Given the description of an element on the screen output the (x, y) to click on. 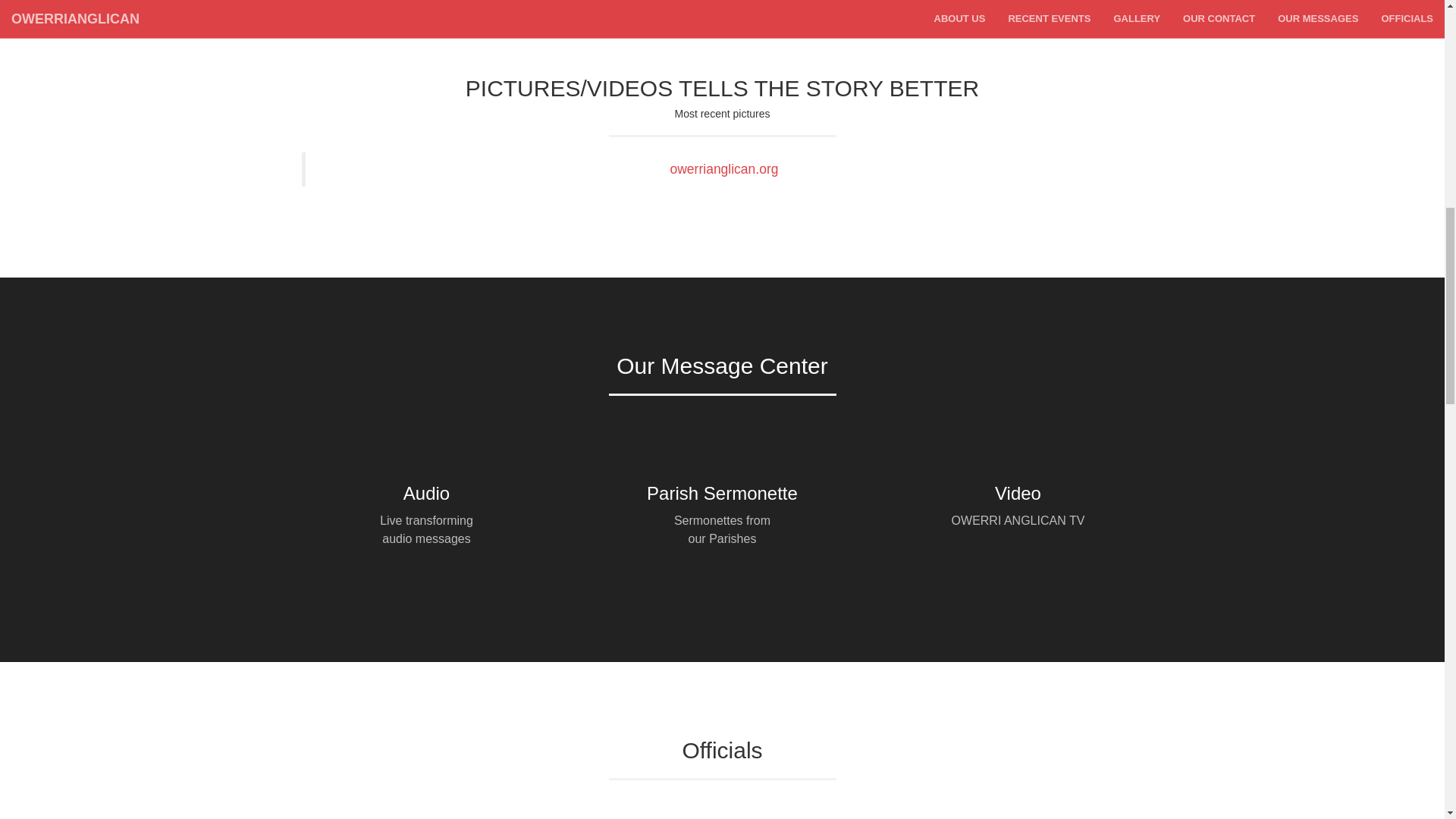
owerrianglican.org (723, 168)
